Given the description of an element on the screen output the (x, y) to click on. 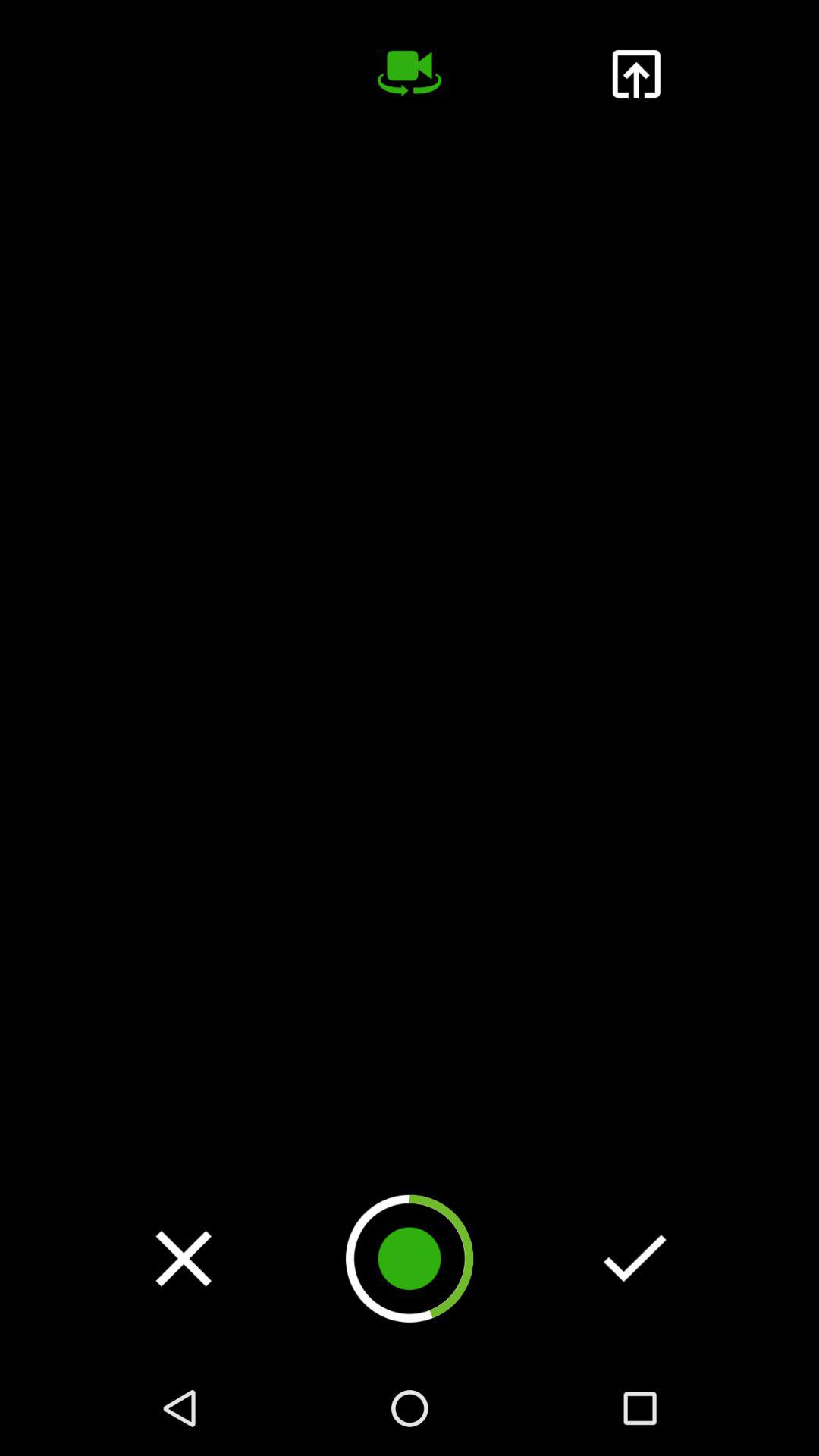
turn off the icon at the top (409, 73)
